Given the description of an element on the screen output the (x, y) to click on. 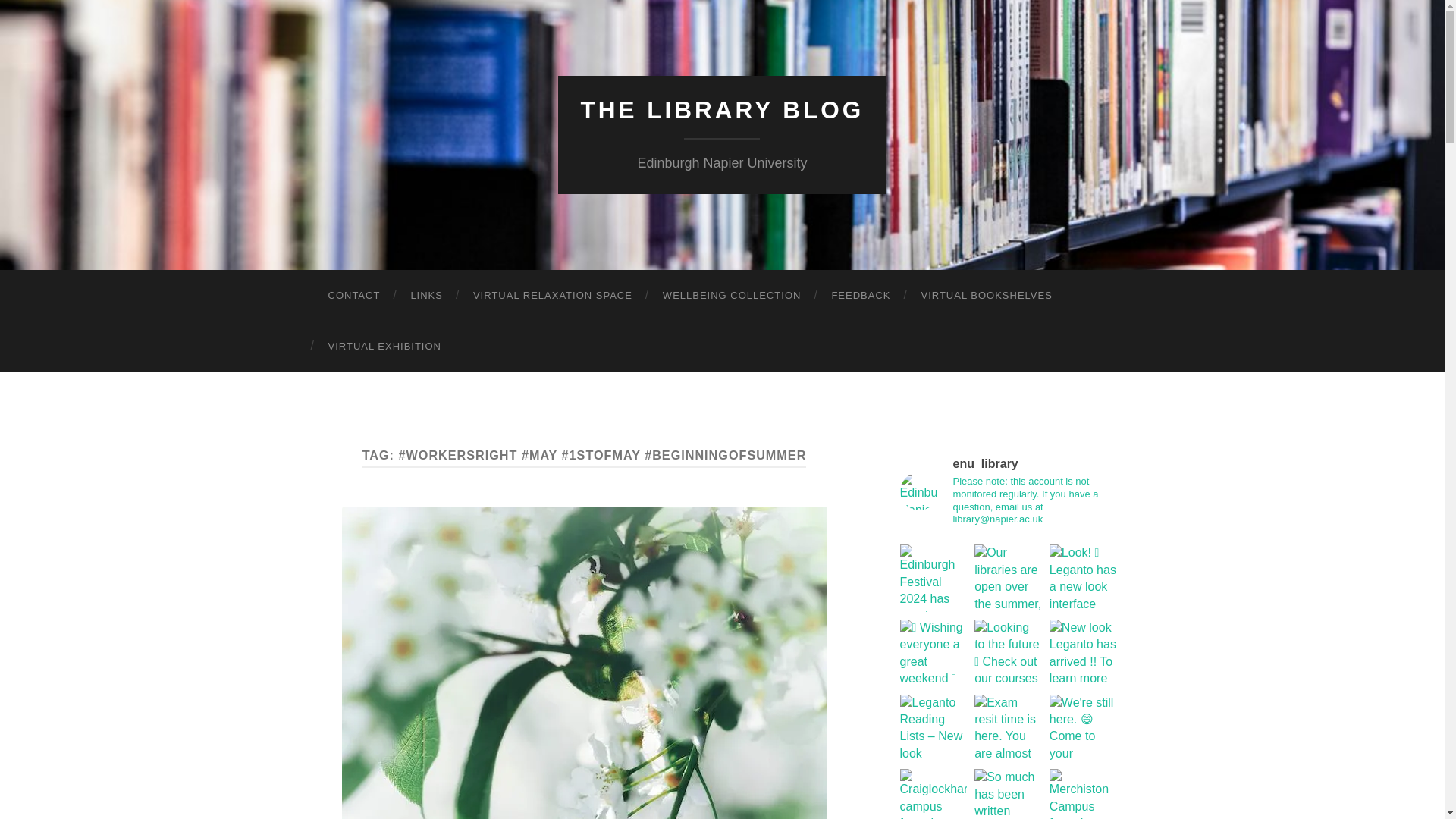
LINKS (426, 295)
VIRTUAL BOOKSHELVES (986, 295)
VIRTUAL EXHIBITION (384, 346)
THE LIBRARY BLOG (722, 109)
WELLBEING COLLECTION (731, 295)
VIRTUAL RELAXATION SPACE (552, 295)
CONTACT (353, 295)
FEEDBACK (860, 295)
